Given the description of an element on the screen output the (x, y) to click on. 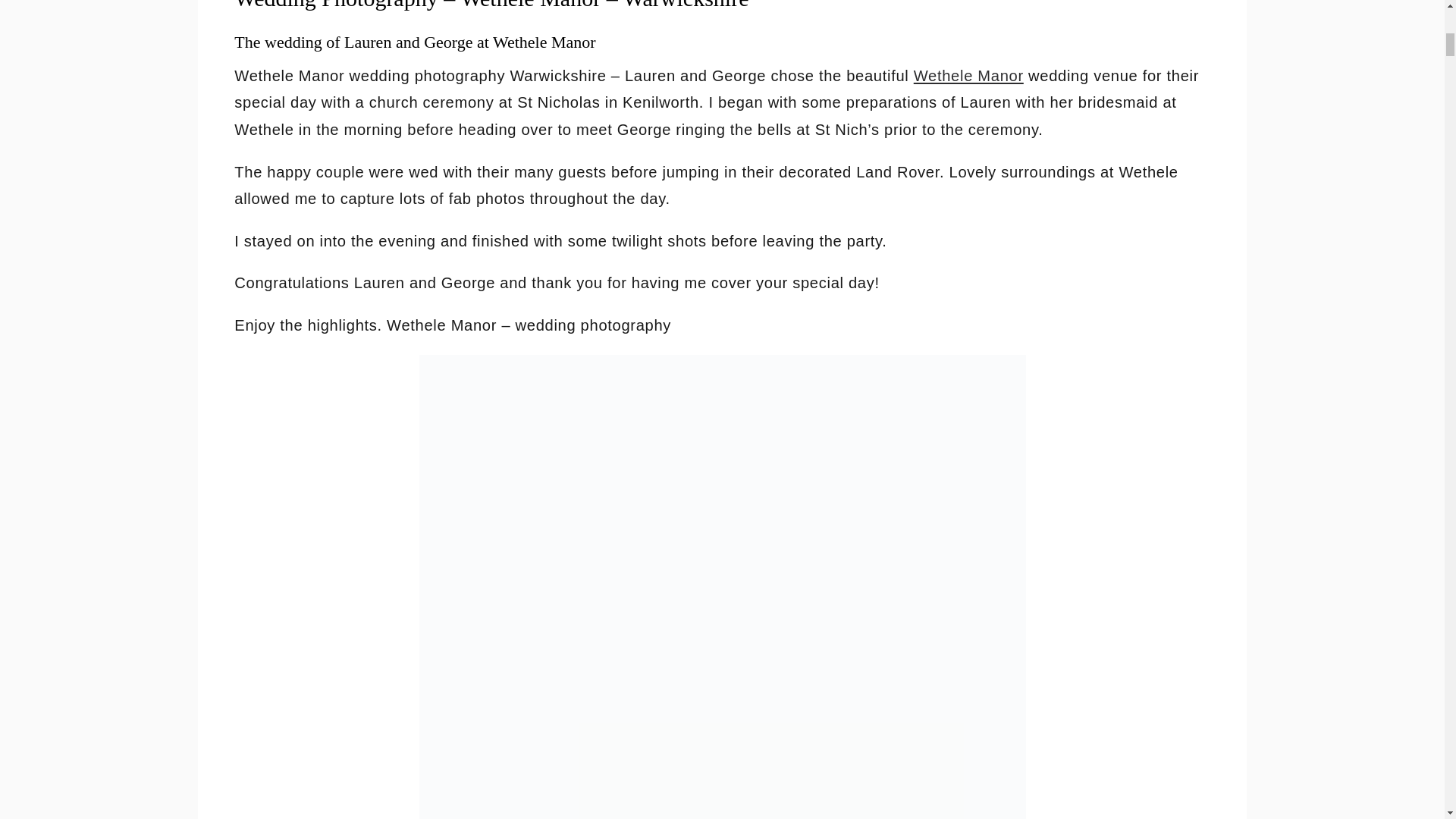
Wethele Manor (968, 75)
